Given the description of an element on the screen output the (x, y) to click on. 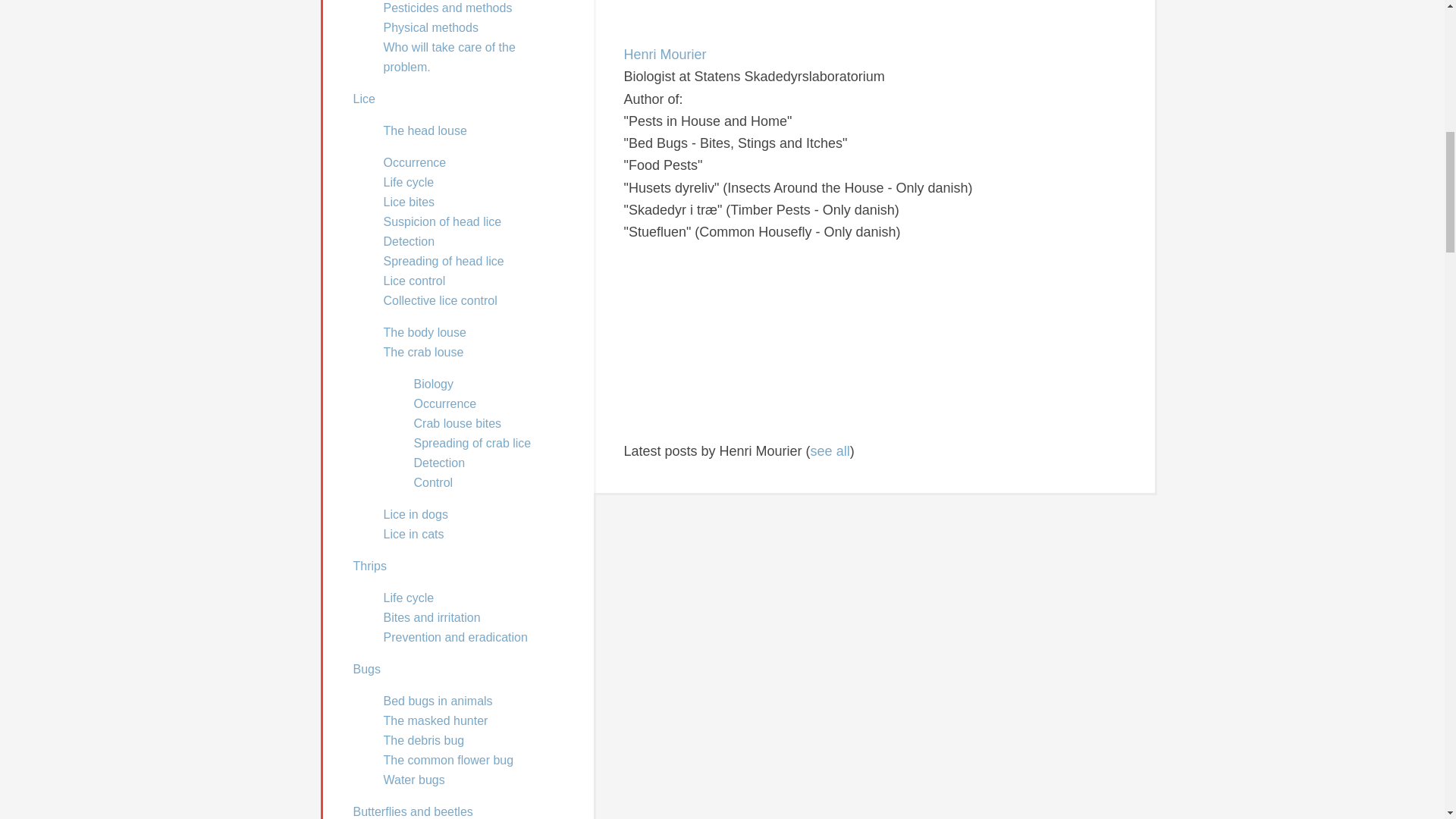
Henri Mourier (664, 54)
Henri Mourier (717, 32)
Henri Mourier (717, 427)
see all (830, 450)
